Given the description of an element on the screen output the (x, y) to click on. 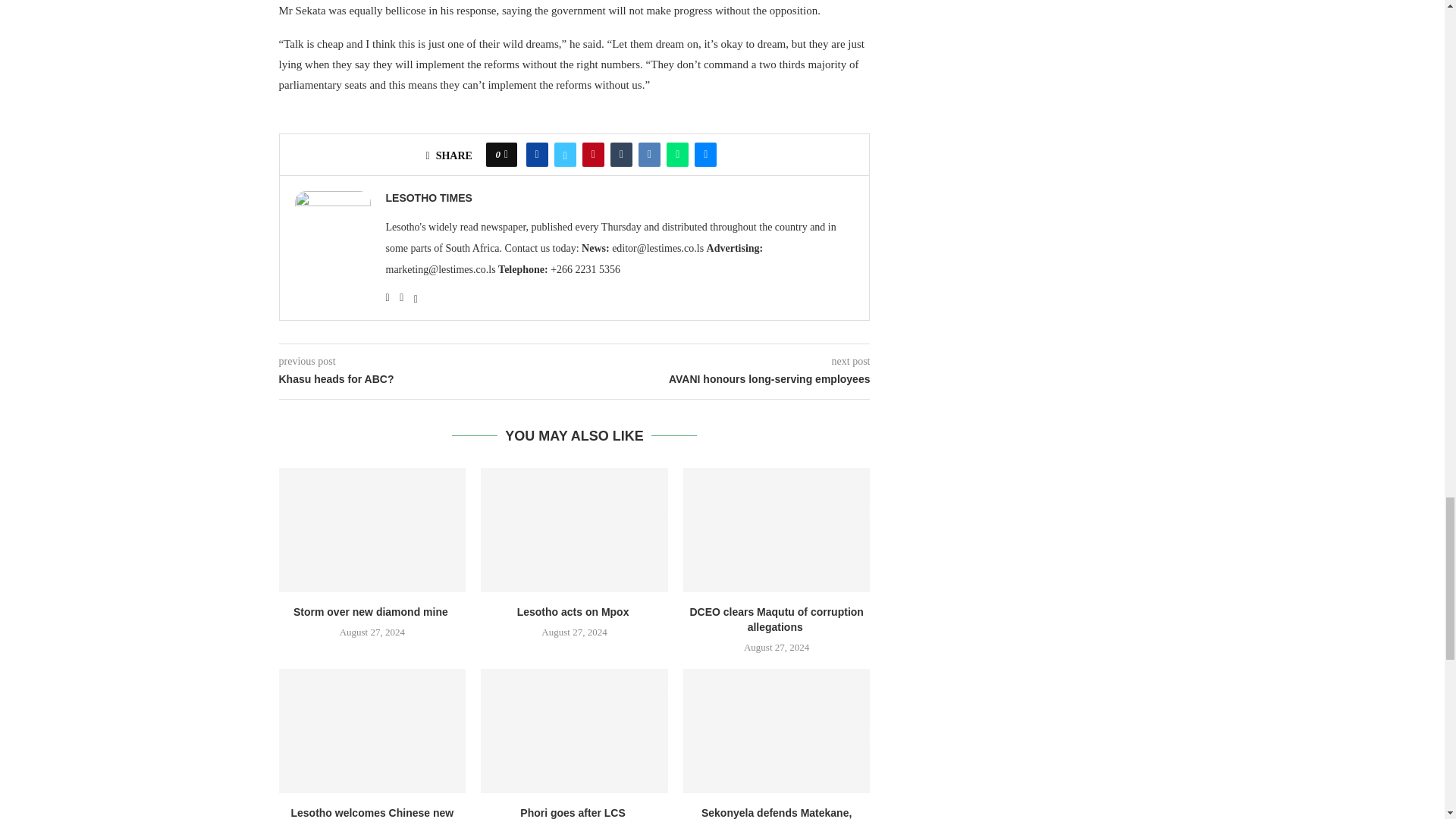
Author Lesotho Times (428, 197)
